Given the description of an element on the screen output the (x, y) to click on. 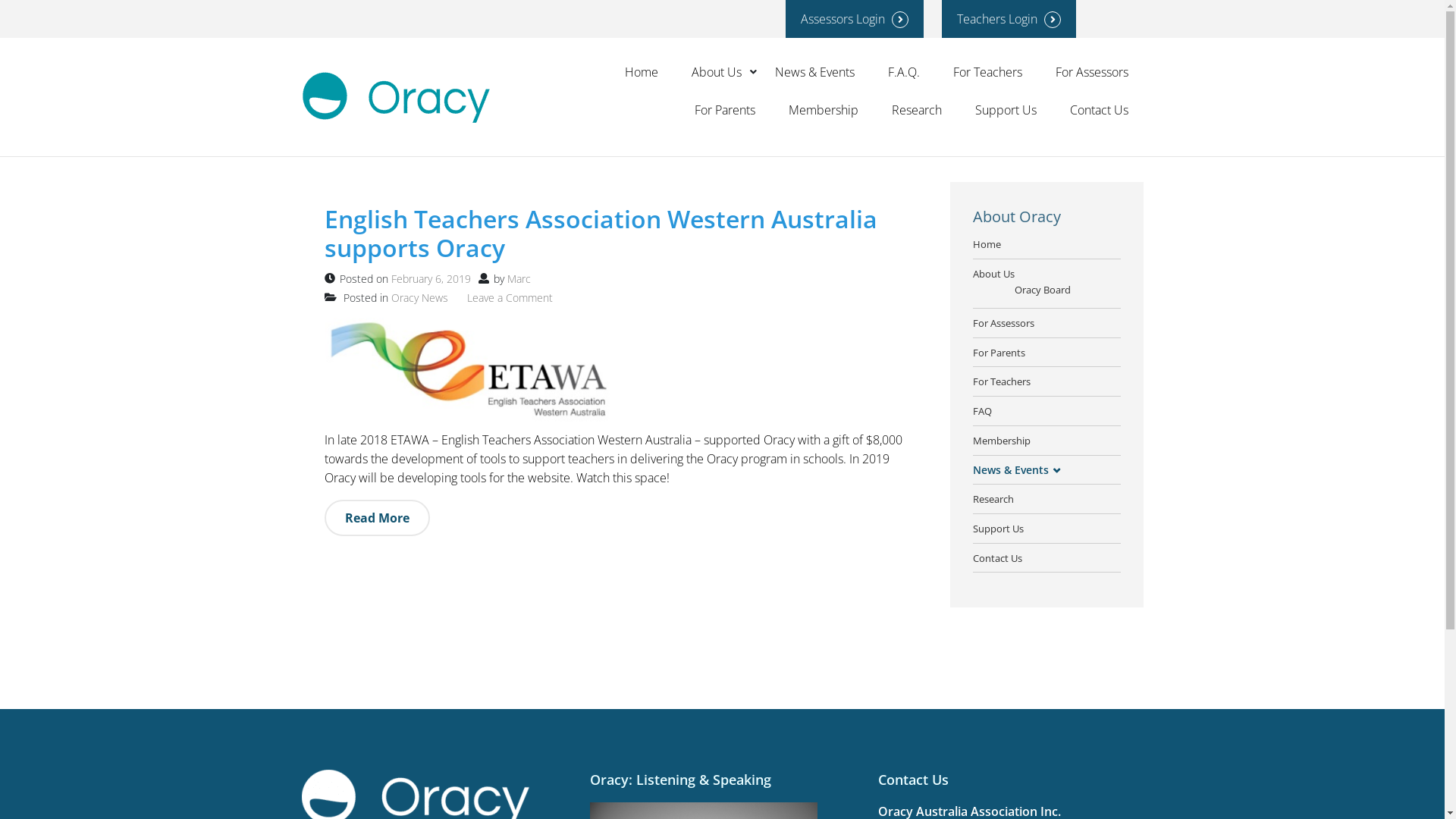
Read More Element type: text (376, 517)
For Teachers Element type: text (986, 72)
For Assessors Element type: text (1002, 322)
Research Element type: text (916, 109)
Home Element type: text (986, 243)
Teachers Login Element type: text (1008, 18)
Contact Us Element type: text (996, 557)
FAQ Element type: text (981, 410)
February 6, 2019 Element type: text (430, 278)
Support Us Element type: text (1005, 109)
Assessors Login Element type: text (854, 18)
About Us Element type: text (992, 273)
Research Element type: text (992, 498)
Support Us Element type: text (997, 528)
For Teachers Element type: text (1000, 381)
Membership Element type: text (1000, 440)
Home Element type: text (641, 72)
For Parents Element type: text (724, 109)
F.A.Q. Element type: text (903, 72)
News & Events Element type: text (814, 72)
Marc Element type: text (518, 278)
Contact Us Element type: text (1098, 109)
Oracy News Element type: text (419, 297)
News & Events Element type: text (1010, 469)
Membership Element type: text (823, 109)
Oracy Board Element type: text (1042, 289)
For Assessors Element type: text (1091, 72)
About Us Element type: text (716, 72)
For Parents Element type: text (998, 352)
